Given the description of an element on the screen output the (x, y) to click on. 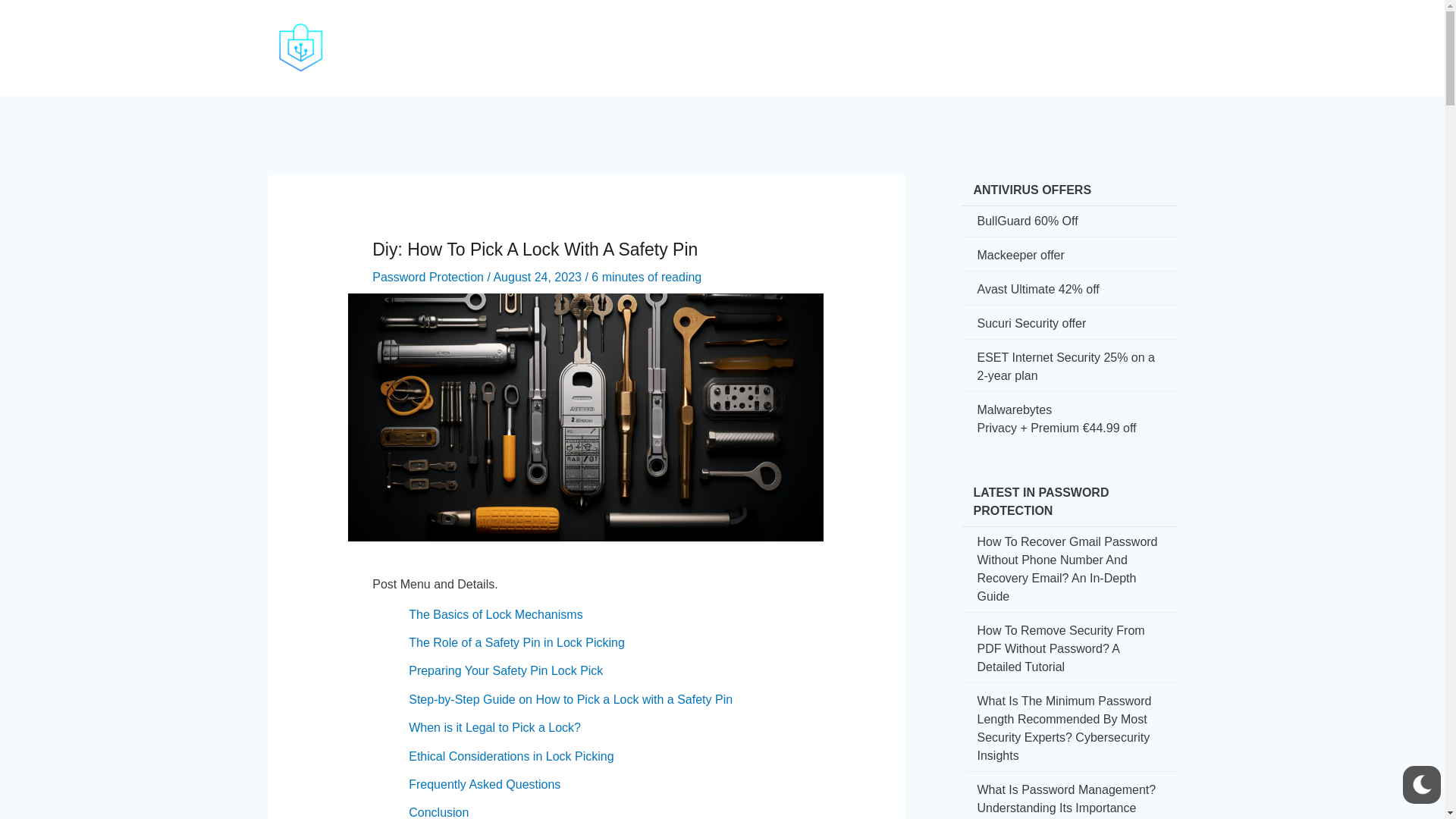
Search (1162, 37)
Gaming (999, 35)
Social (863, 35)
Misc (1122, 35)
Frequently Asked Questions (484, 784)
Step-by-Step Guide on How to Pick a Lock with a Safety Pin (570, 698)
Preparing Your Safety Pin Lock Pick (505, 670)
How-To (802, 35)
The Role of a Safety Pin in Lock Picking (516, 642)
Password Protection (427, 277)
When is it Legal to Pick a Lock? (494, 727)
The Basics of Lock Mechanisms (495, 614)
10 Best (1064, 35)
Cyber Security (713, 35)
Ethical Considerations in Lock Picking (510, 756)
